Given the description of an element on the screen output the (x, y) to click on. 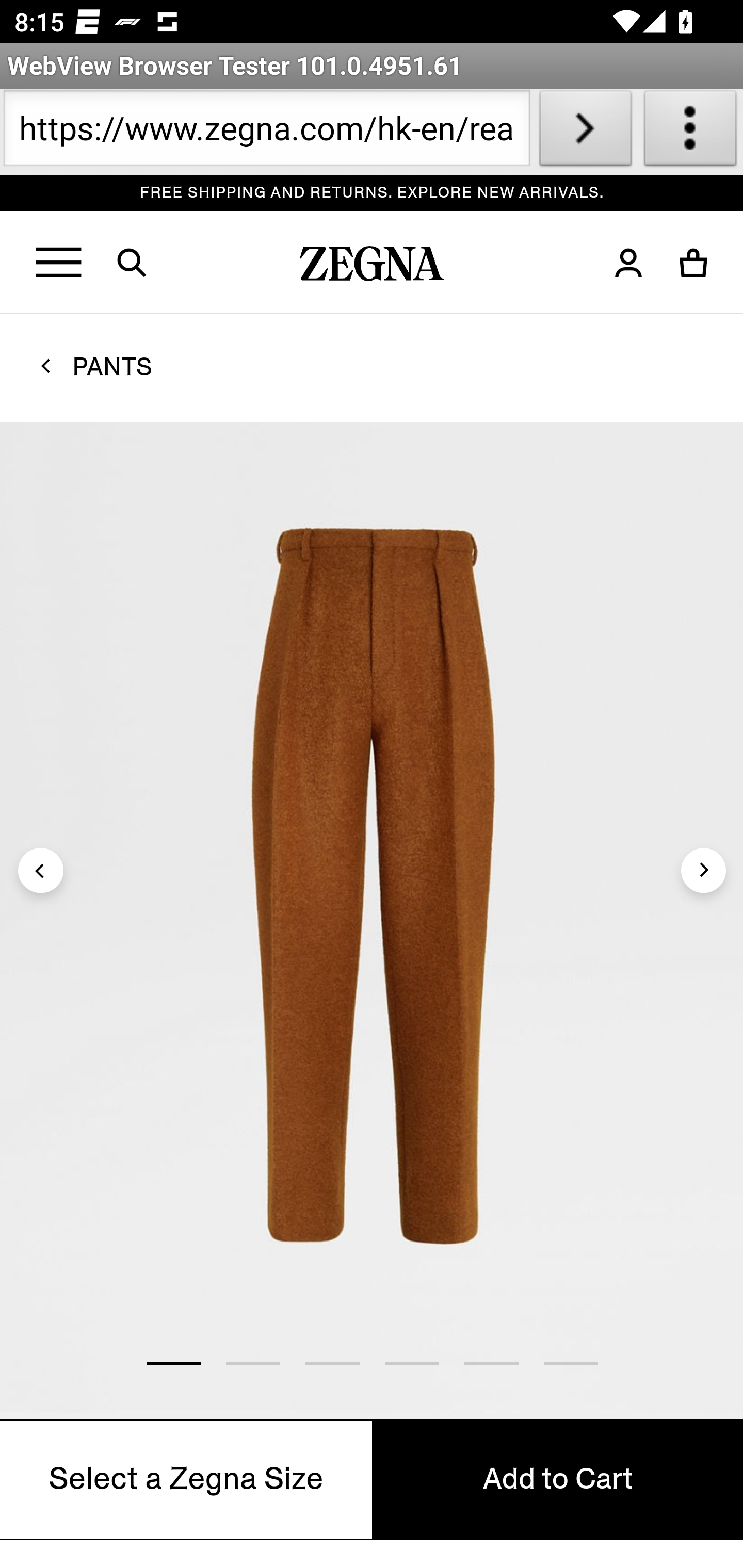
Load URL (585, 132)
About WebView (690, 132)
FREE SHIPPING AND RETURNS. EXPLORE NEW ARRIVALS. (372, 192)
Search (144, 263)
Open Website Menu  (59, 262)
Zegna Homepage (372, 267)
Account Access  (628, 262)
Open Cart Empty  (694, 262)
PANTS (112, 366)
Previous slide (41, 869)
Next slide (703, 869)
Go to slide 1 (173, 1363)
Go to slide 2 (252, 1363)
Go to slide 3 (332, 1363)
Go to slide 4 (411, 1363)
Go to slide 5 (491, 1363)
Go to slide 6 (570, 1363)
Select a Zegna Size (186, 1479)
Add to Cart  (557, 1479)
